Given the description of an element on the screen output the (x, y) to click on. 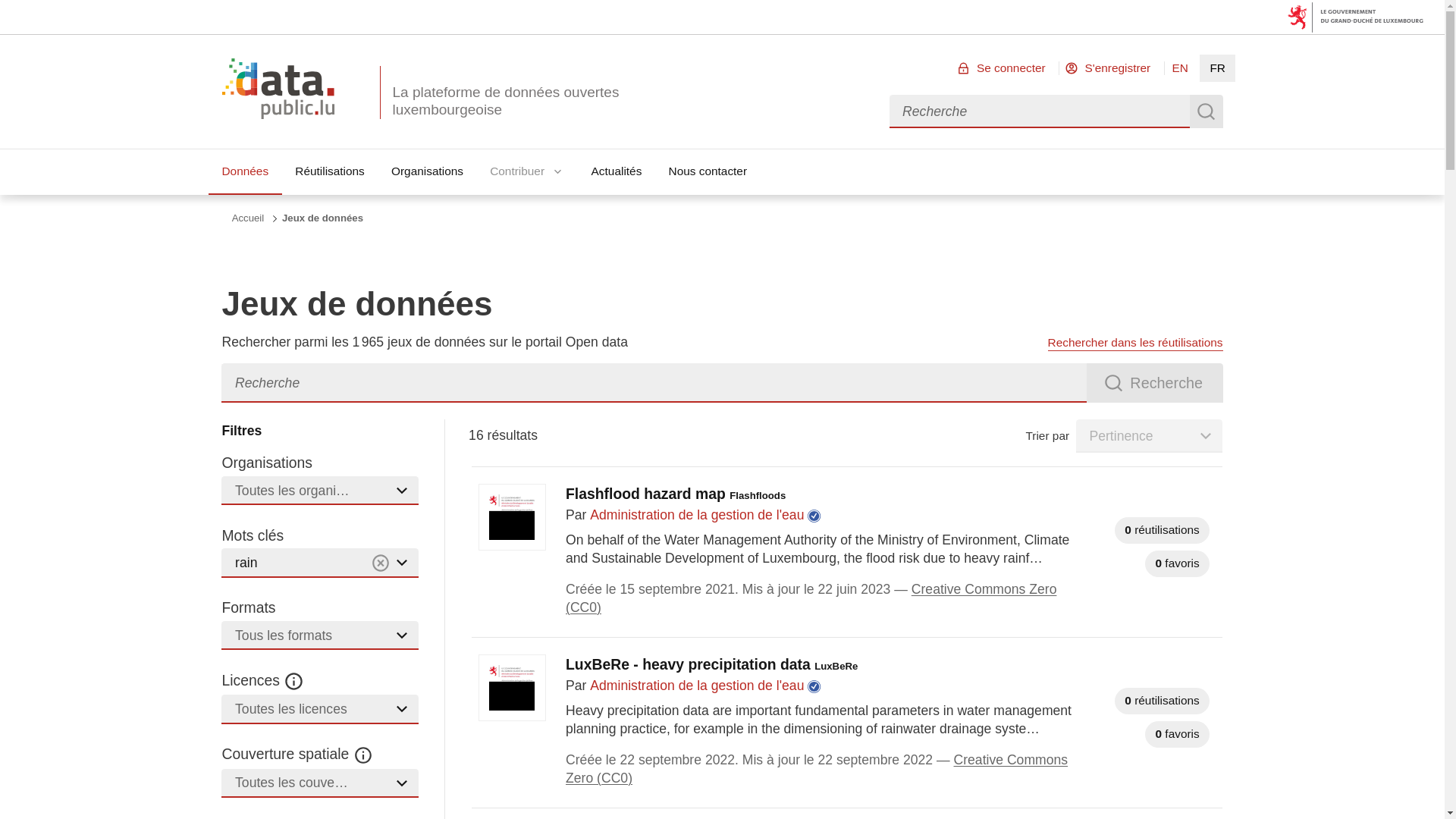
EN - english version (1179, 67)
Toutes les couvertures (320, 783)
EN (1179, 67)
Se connecter (1003, 67)
Contribuer (527, 171)
Recherche (1154, 383)
Toutes les licences (320, 708)
Organisations (426, 171)
Nous contacter (707, 171)
S'enregistrer (1109, 67)
